Given the description of an element on the screen output the (x, y) to click on. 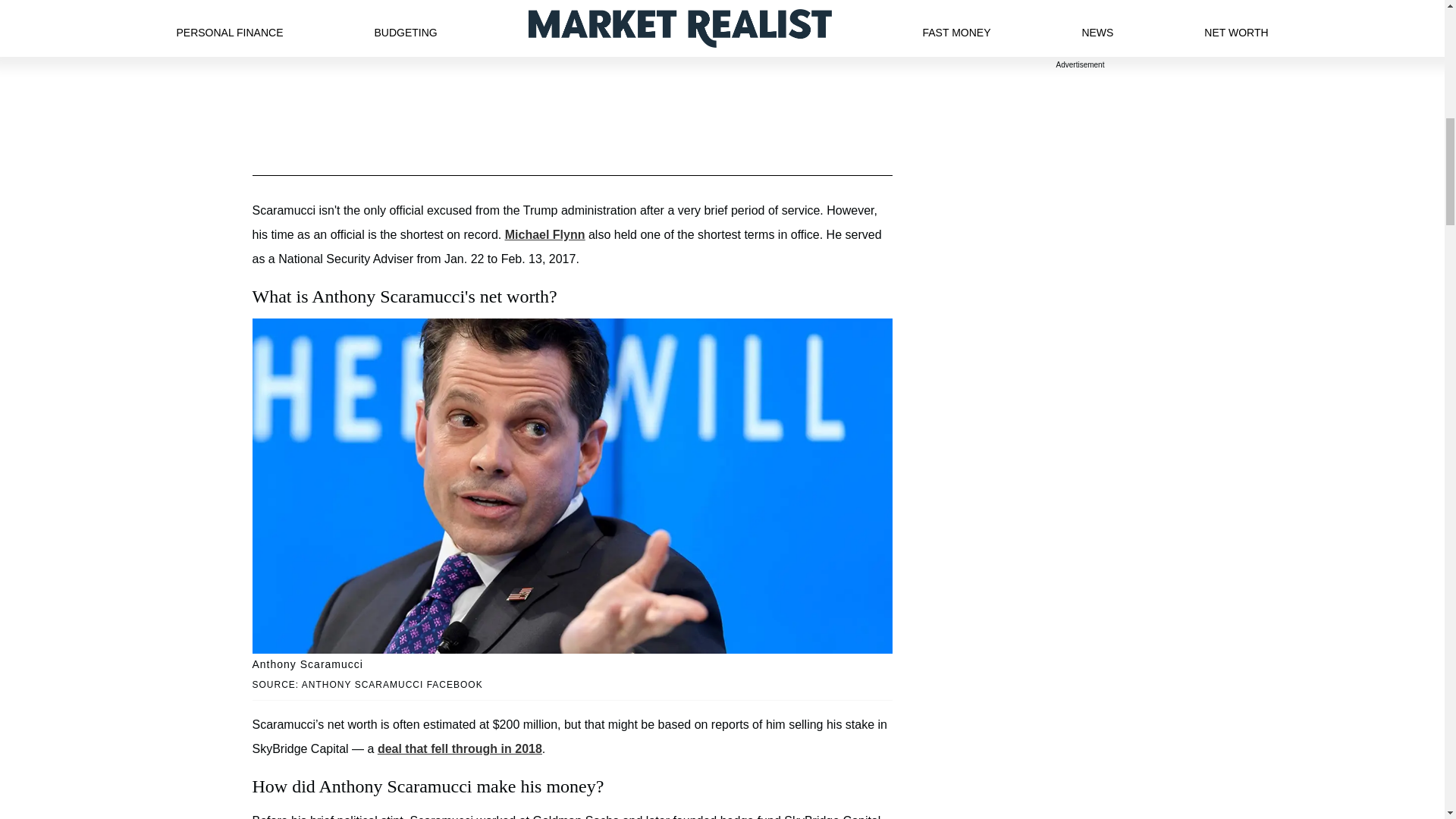
deal that fell through in 2018 (459, 748)
Michael Flynn (545, 234)
